Given the description of an element on the screen output the (x, y) to click on. 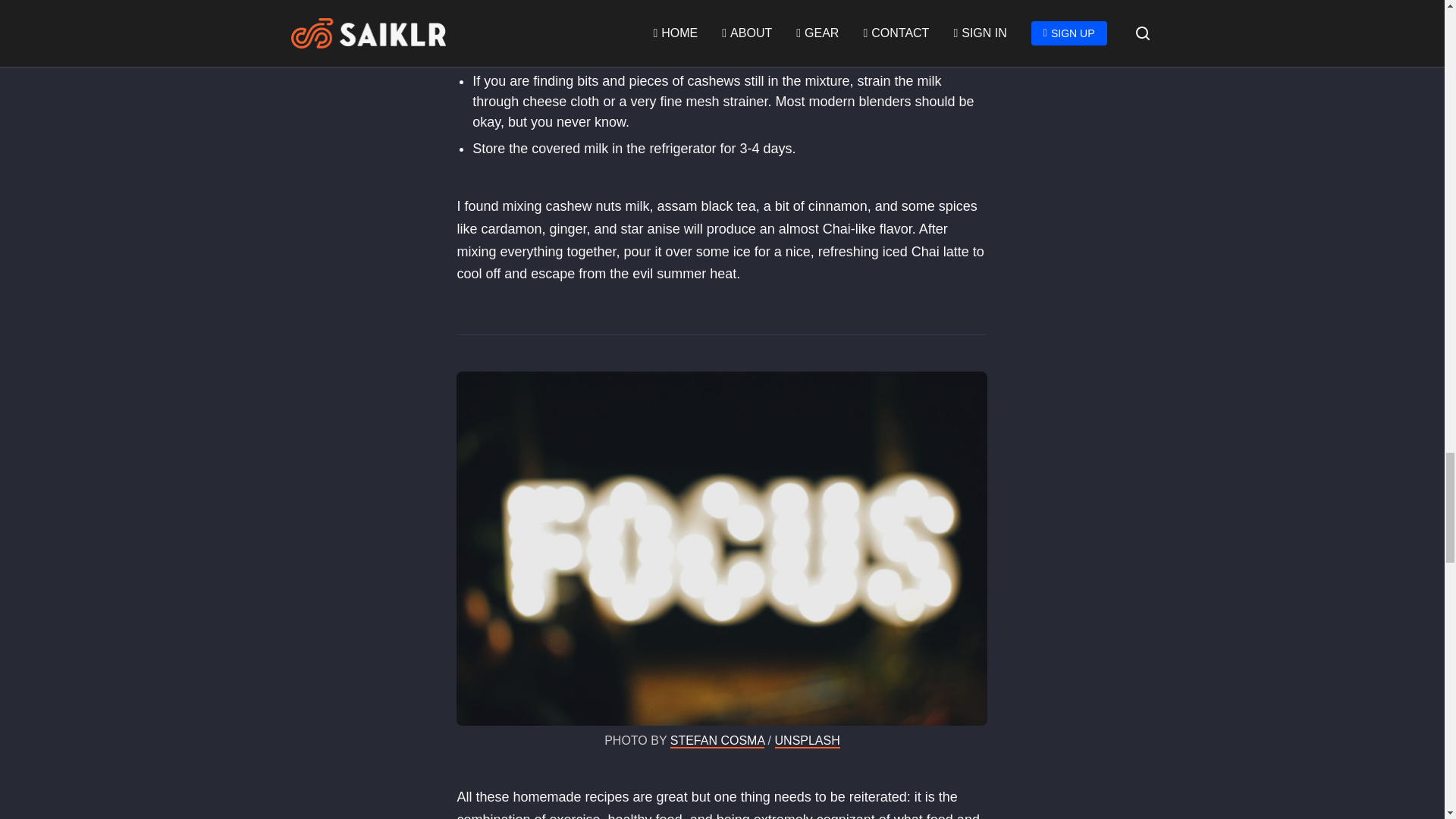
UNSPLASH (807, 740)
STEFAN COSMA (716, 740)
